Given the description of an element on the screen output the (x, y) to click on. 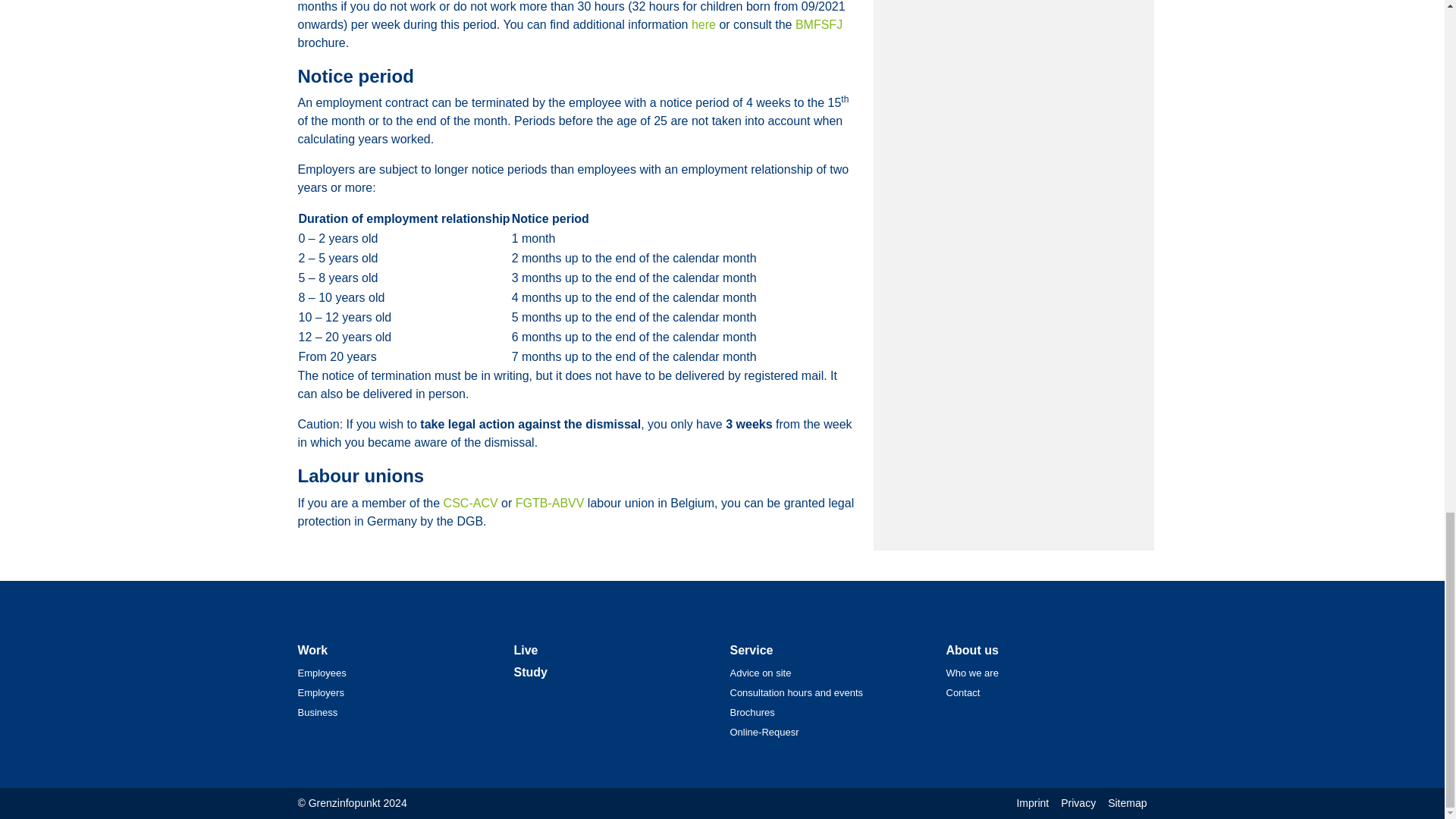
CSC-ACV (470, 502)
FGTB-ABVV (550, 502)
here (703, 24)
BMFSFJ (818, 24)
